Given the description of an element on the screen output the (x, y) to click on. 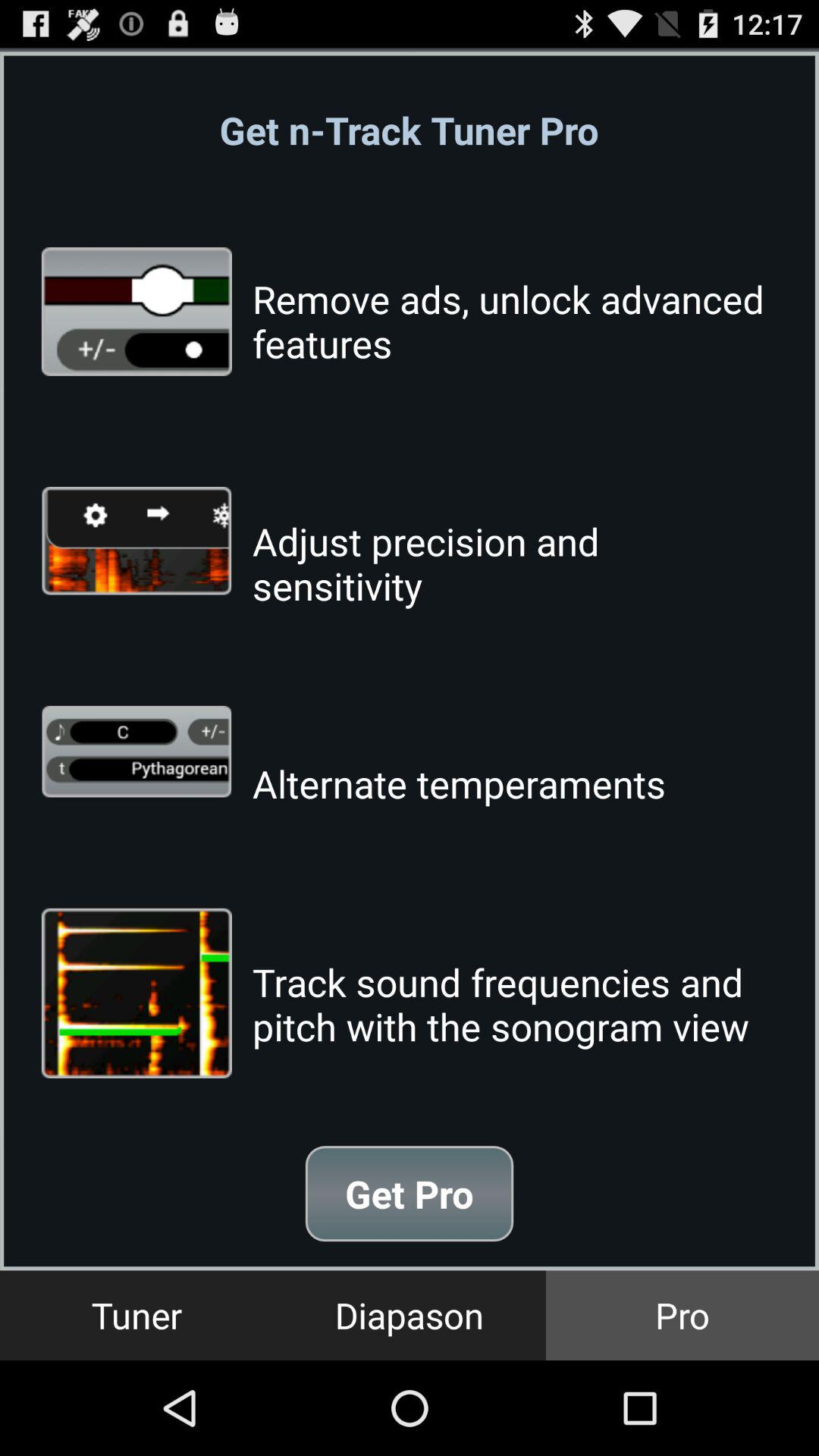
select icon next to tuner button (409, 1315)
